Given the description of an element on the screen output the (x, y) to click on. 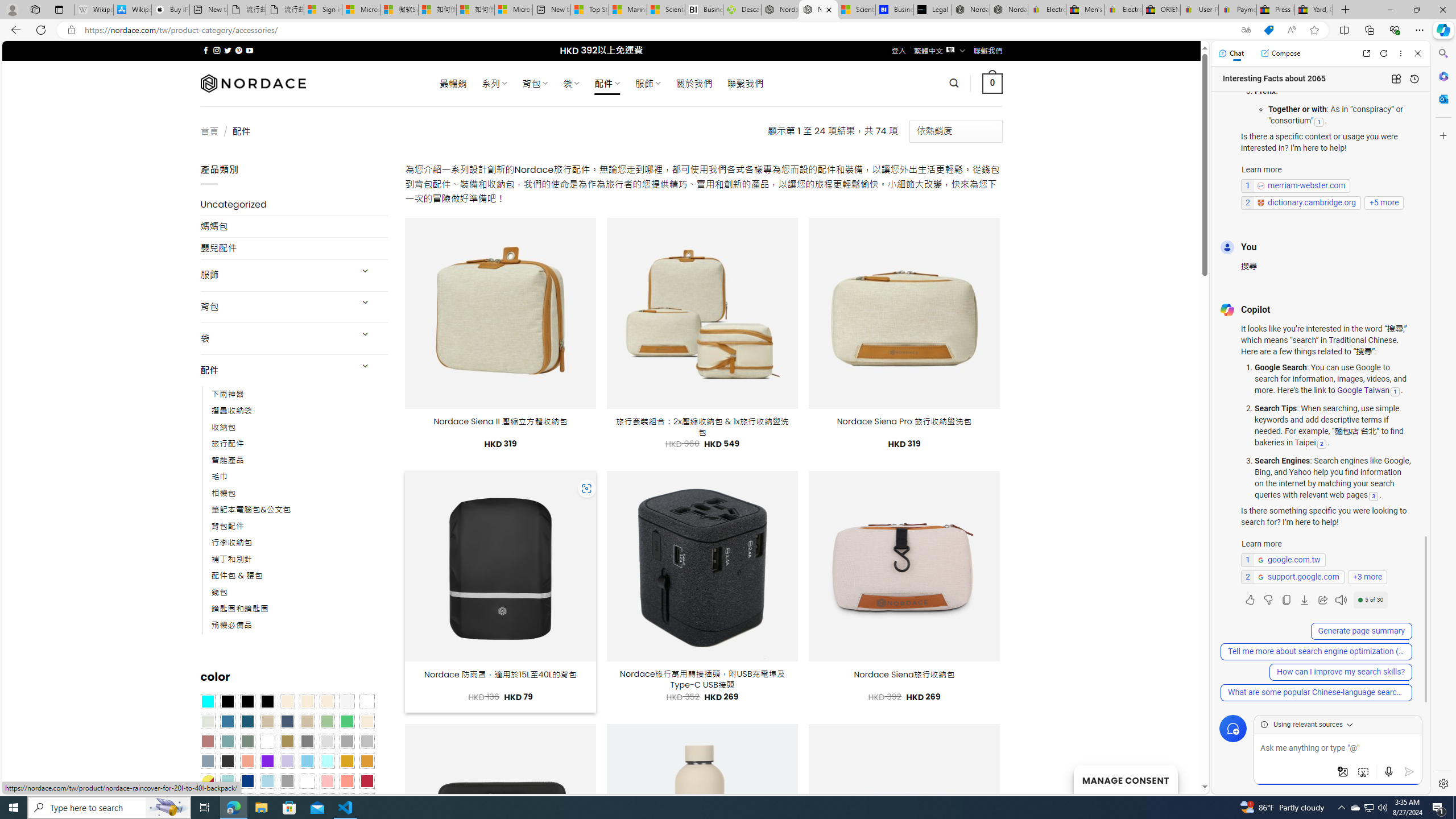
Top Stories - MSN (589, 9)
User Privacy Notice | eBay (1198, 9)
Microsoft account | Account Checkup (513, 9)
Descarga Driver Updater (741, 9)
